Given the description of an element on the screen output the (x, y) to click on. 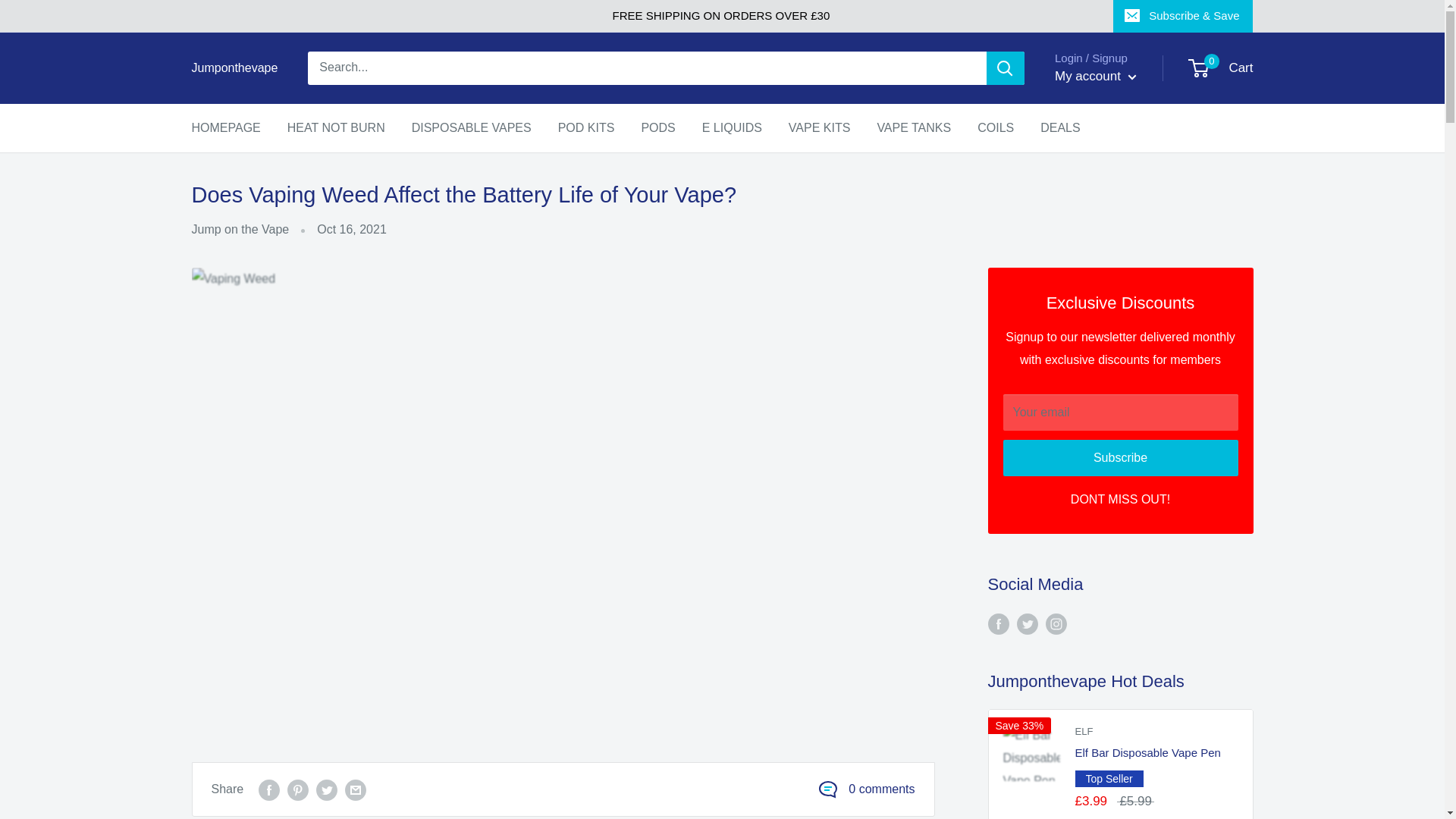
HEAT NOT BURN (335, 128)
E LIQUIDS (731, 128)
HOMEPAGE (1221, 68)
POD KITS (225, 128)
VAPE KITS (585, 128)
PODS (819, 128)
My account (657, 128)
Jumponthevape (1095, 76)
DISPOSABLE VAPES (234, 67)
